Given the description of an element on the screen output the (x, y) to click on. 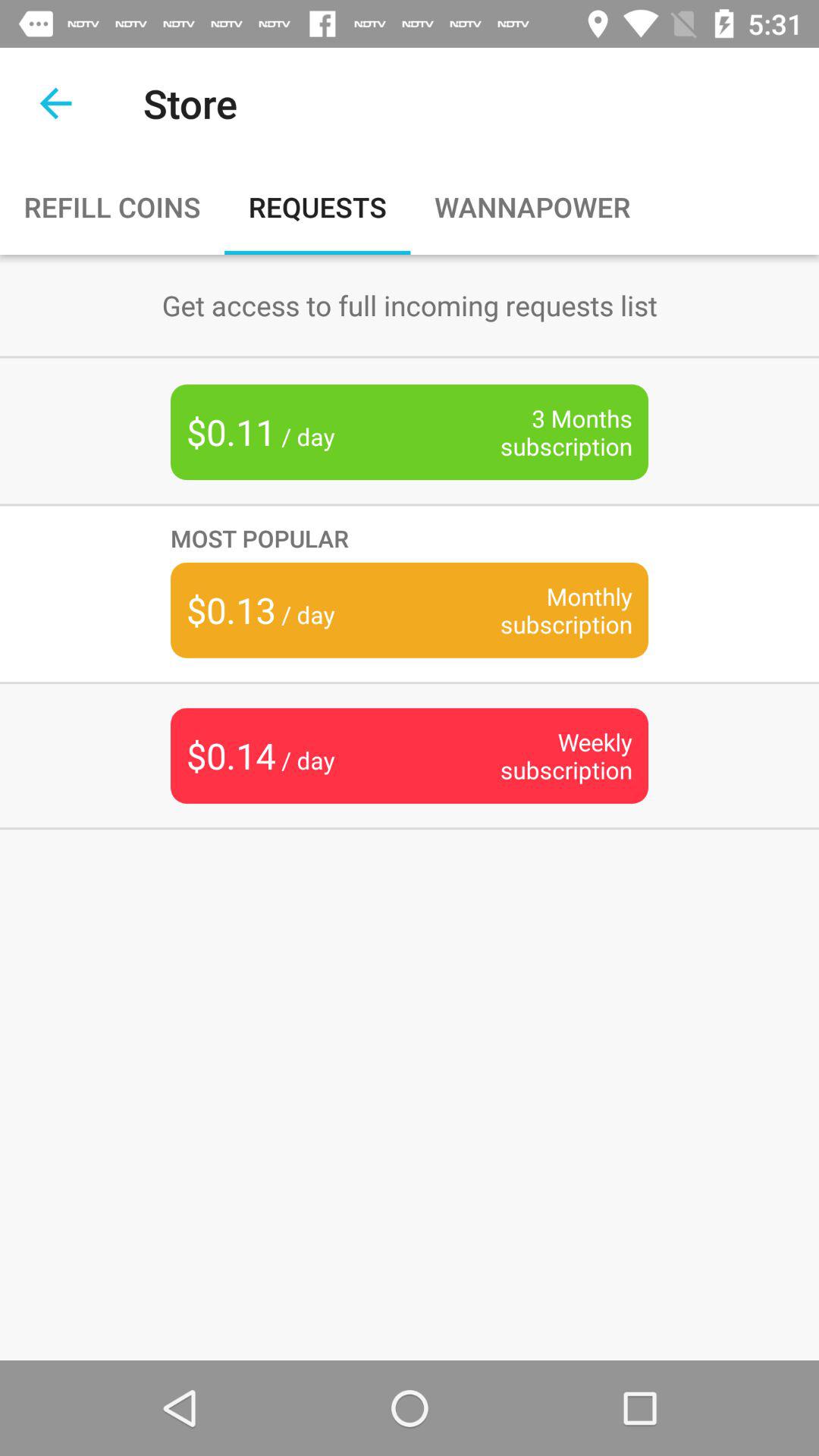
press the 3 months subscription icon (543, 432)
